Given the description of an element on the screen output the (x, y) to click on. 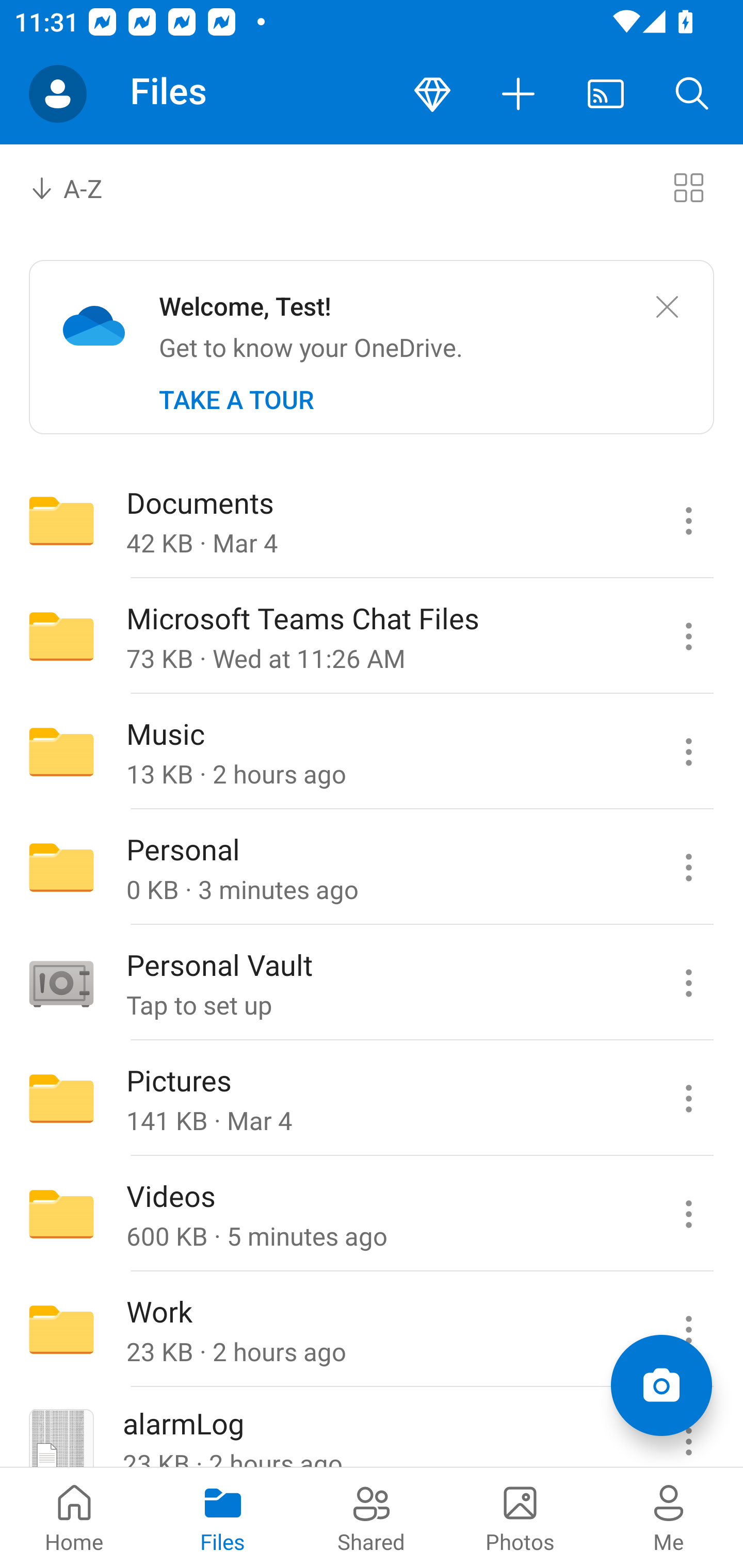
Account switcher (57, 93)
Cast. Disconnected (605, 93)
Premium button (432, 93)
More actions button (518, 93)
Search button (692, 93)
A-Z Sort by combo box, sort by name, A to Z (80, 187)
Switch to tiles view (688, 187)
Close (667, 307)
TAKE A TOUR (236, 399)
Folder Documents 42 KB · Mar 4 Documents commands (371, 520)
Documents commands (688, 520)
Microsoft Teams Chat Files commands (688, 636)
Folder Music 13 KB · 2 hours ago Music commands (371, 751)
Music commands (688, 751)
Personal commands (688, 867)
Personal Vault commands (688, 983)
Folder Pictures 141 KB · Mar 4 Pictures commands (371, 1099)
Pictures commands (688, 1099)
Videos commands (688, 1214)
Folder Work 23 KB · 2 hours ago Work commands (371, 1329)
Work commands (688, 1329)
Add items Scan (660, 1385)
alarmLog commands (688, 1427)
Home pivot Home (74, 1517)
Shared pivot Shared (371, 1517)
Photos pivot Photos (519, 1517)
Me pivot Me (668, 1517)
